Given the description of an element on the screen output the (x, y) to click on. 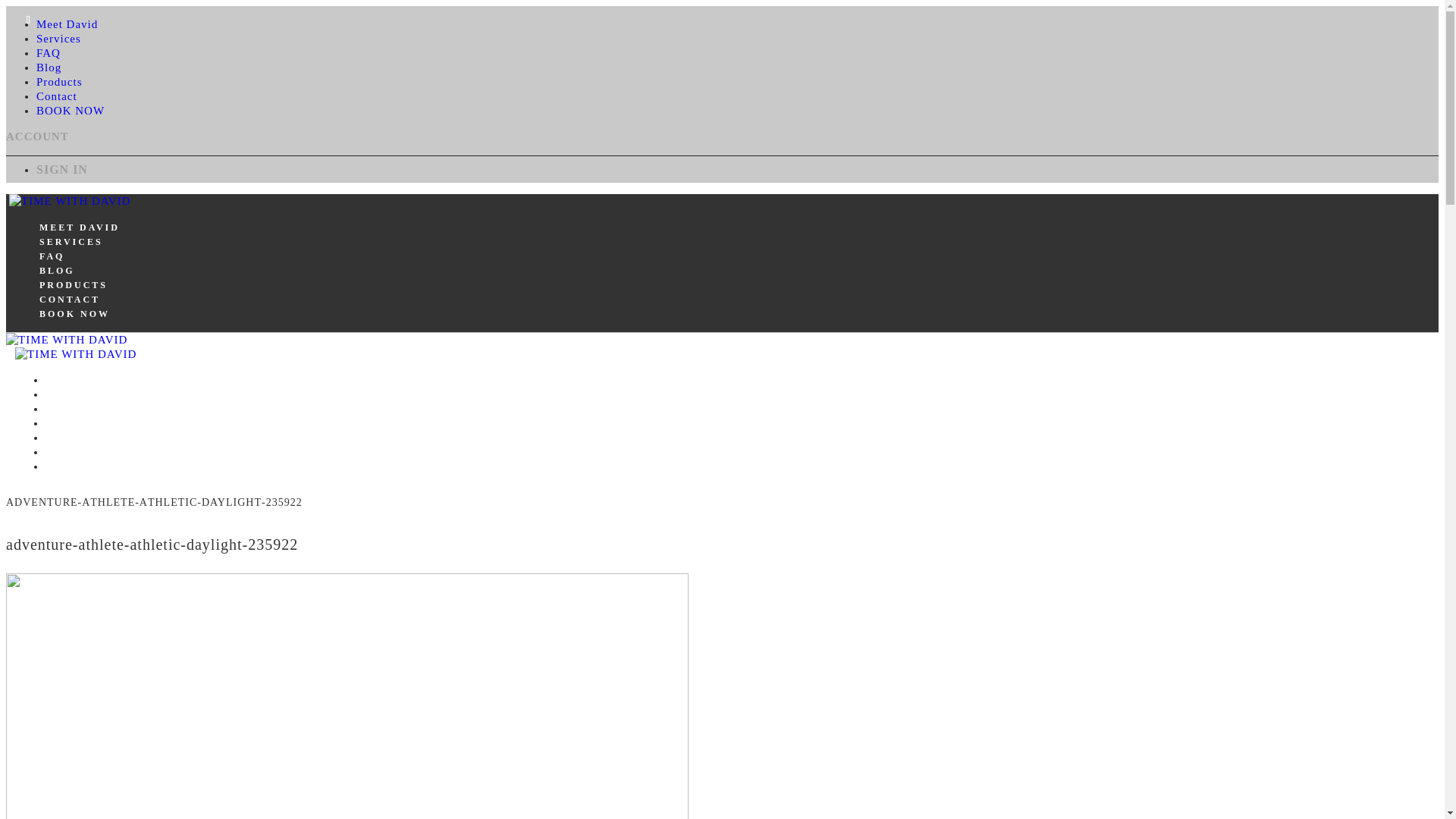
Blog (48, 67)
FAQ (51, 255)
BLOG (57, 270)
MEET DAVID (85, 380)
FAQ (57, 409)
PRODUCTS (73, 285)
CONTACT (69, 299)
adventure-athlete-athletic-daylight-235922 (151, 544)
Meet David (66, 24)
Contact (56, 96)
SERVICES (71, 241)
BLOG (63, 423)
BOOK NOW (74, 313)
MEET DAVID (79, 226)
Services (58, 38)
